Given the description of an element on the screen output the (x, y) to click on. 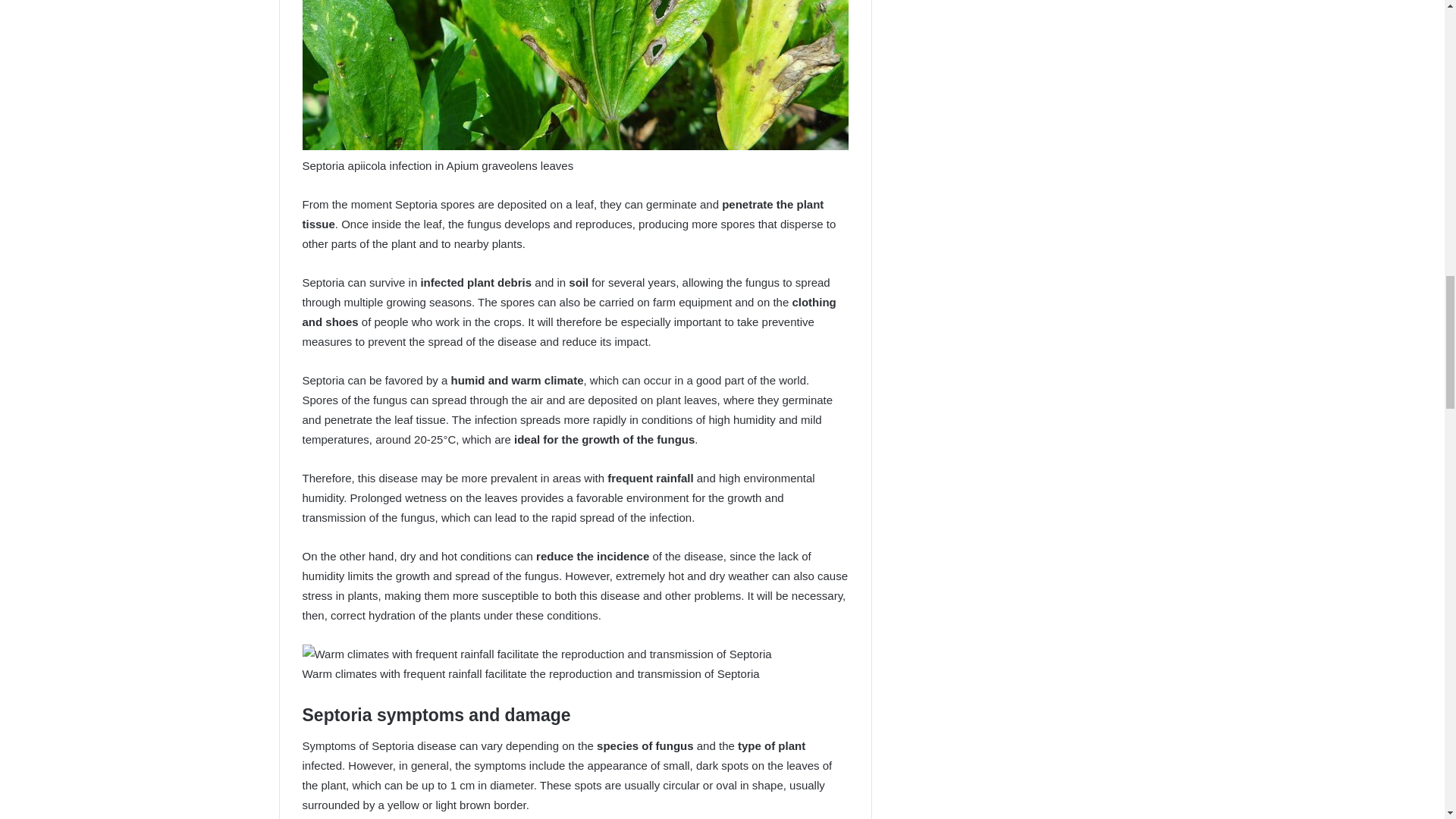
Septoria apiicola infection in Apium graveolens leaves (574, 74)
